Given the description of an element on the screen output the (x, y) to click on. 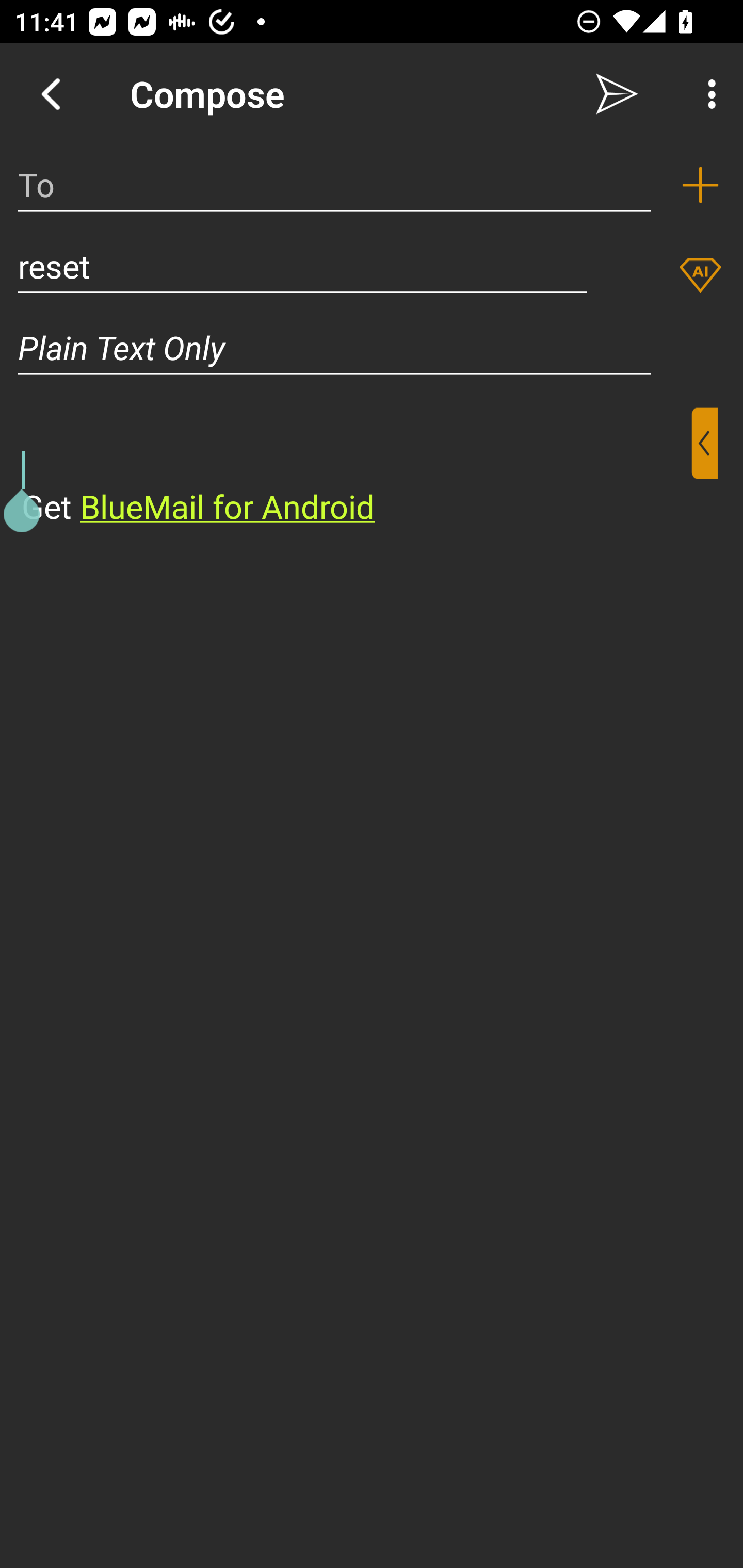
Navigate up (50, 93)
Send (616, 93)
More Options (706, 93)
To (334, 184)
Add recipient (To) (699, 184)
reset (302, 266)
Plain Text Only (371, 347)


⁣Get BlueMail for Android ​ (355, 468)
